Given the description of an element on the screen output the (x, y) to click on. 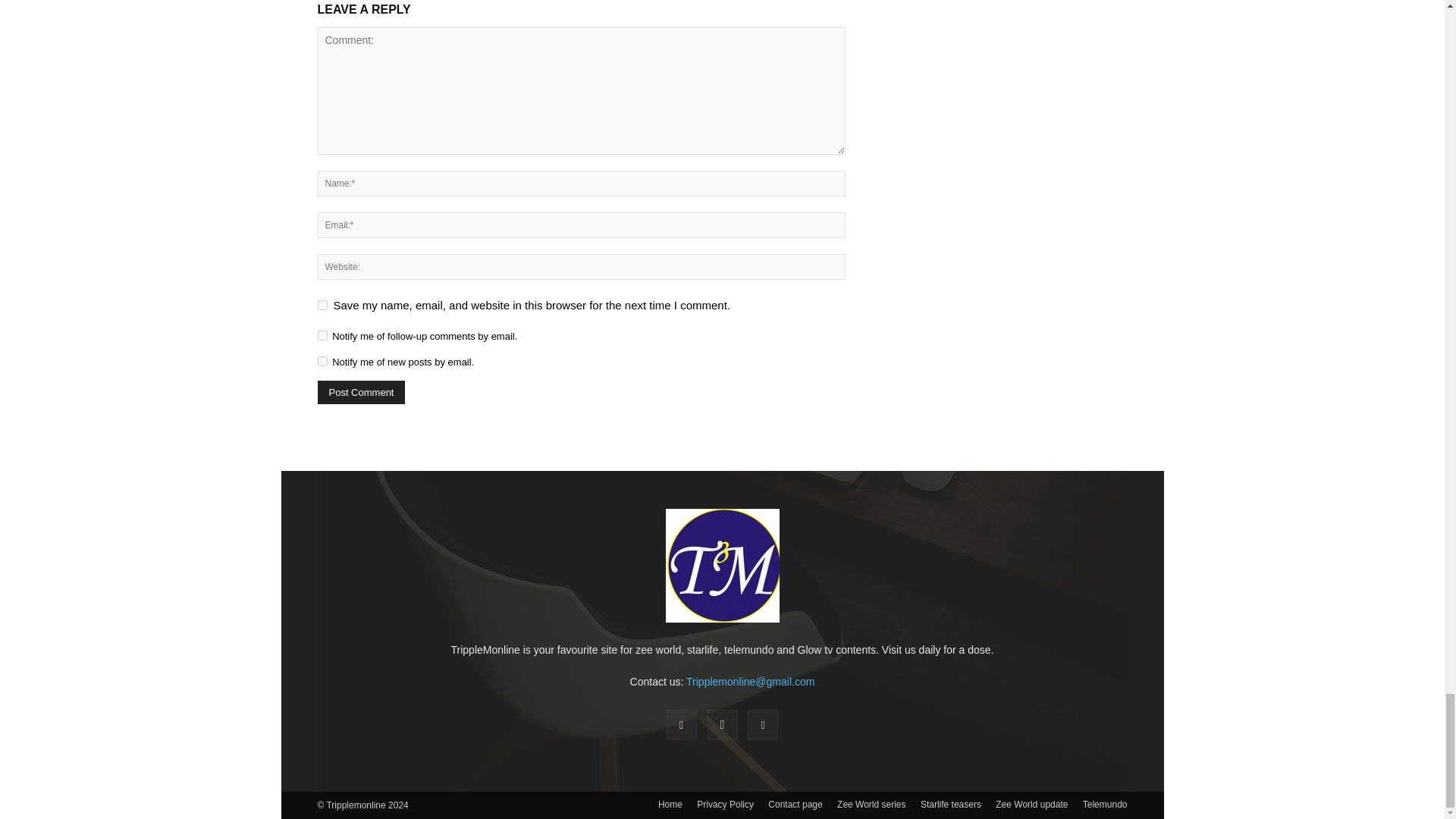
Post Comment (360, 392)
yes (321, 305)
subscribe (321, 361)
subscribe (321, 335)
